Given the description of an element on the screen output the (x, y) to click on. 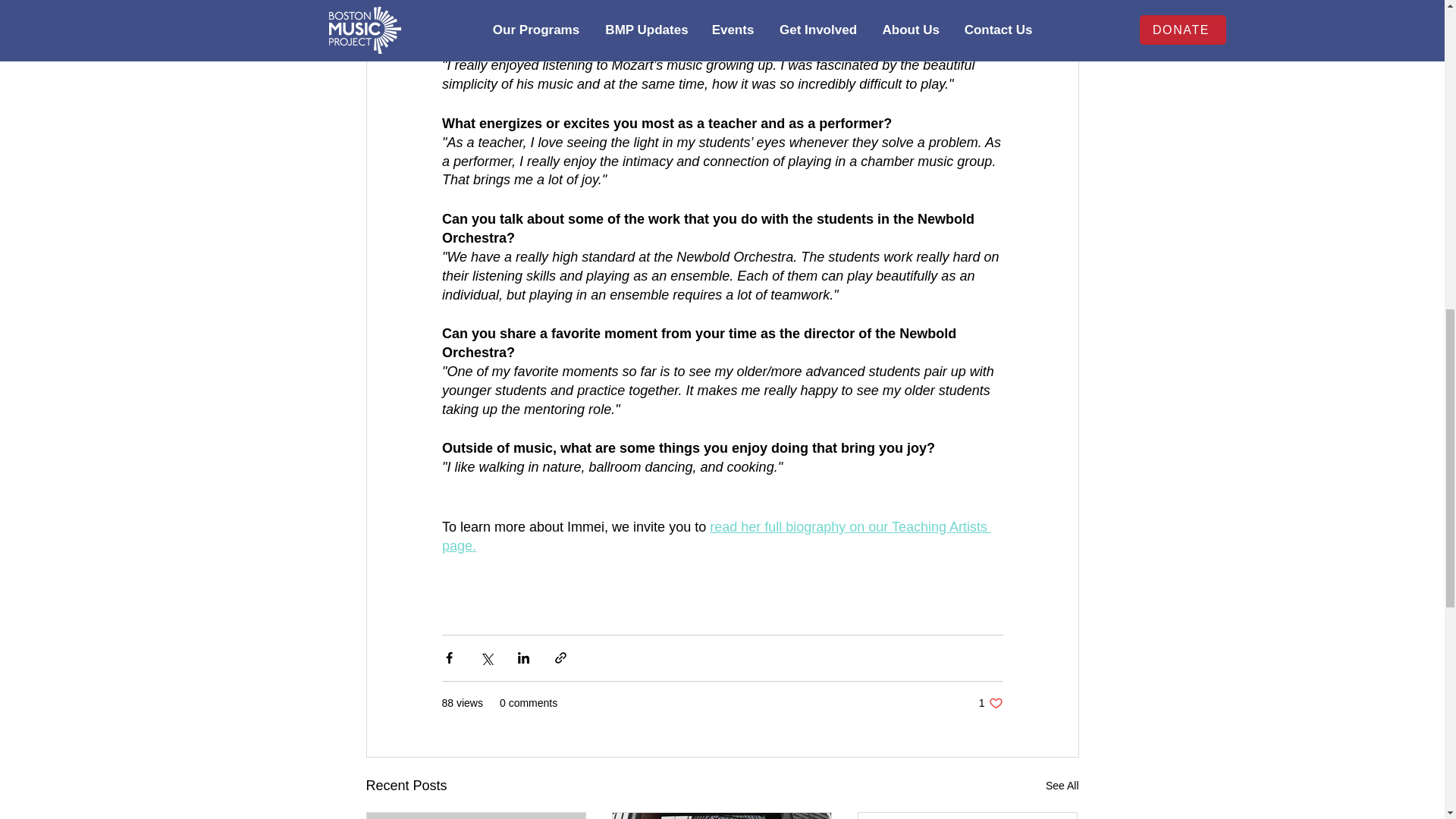
read her full biography on our Teaching Artists page. (990, 703)
See All (715, 536)
